Given the description of an element on the screen output the (x, y) to click on. 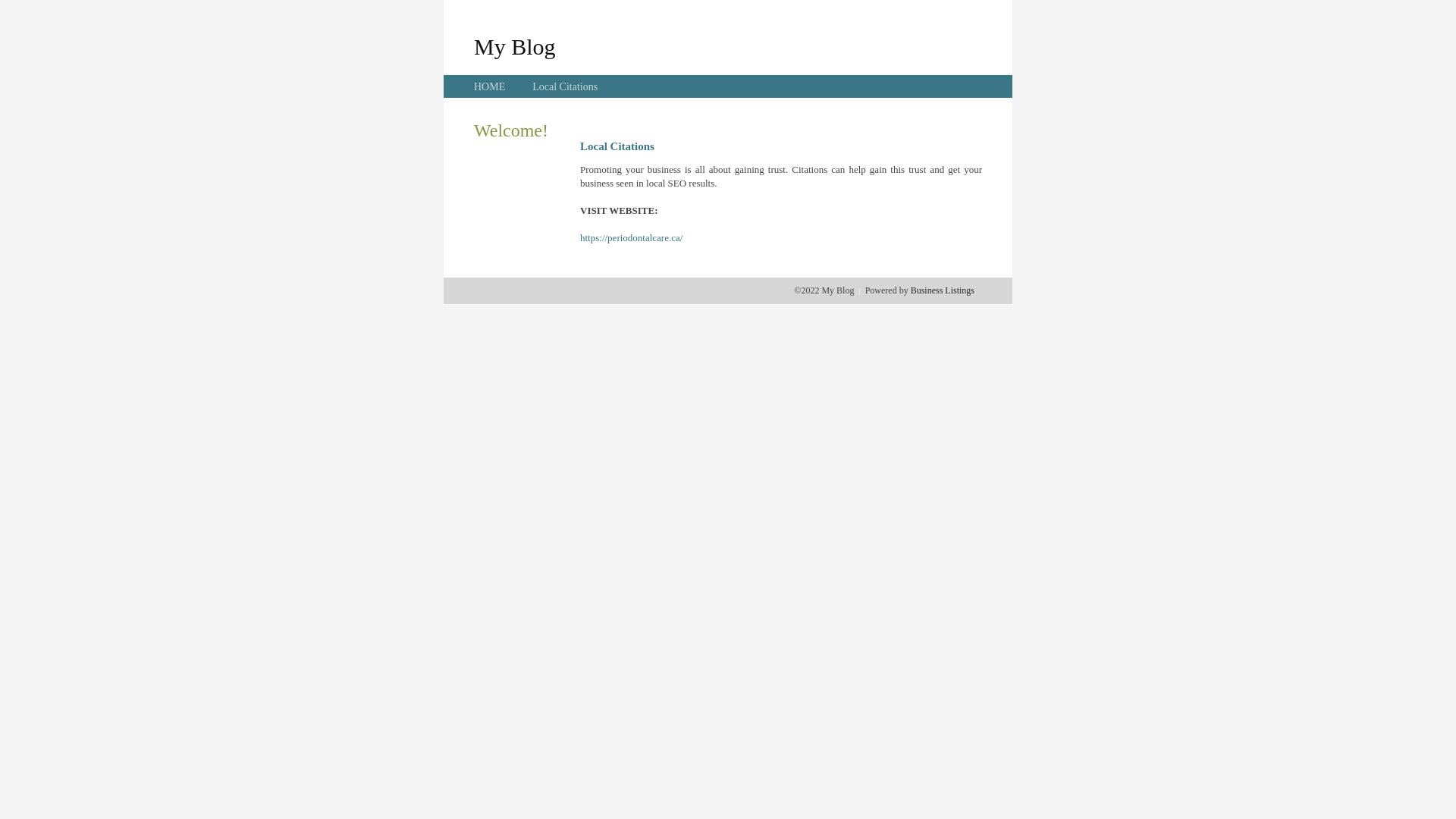
My Blog Element type: text (514, 46)
Business Listings Element type: text (942, 290)
https://periodontalcare.ca/ Element type: text (631, 237)
Local Citations Element type: text (564, 86)
HOME Element type: text (489, 86)
